Given the description of an element on the screen output the (x, y) to click on. 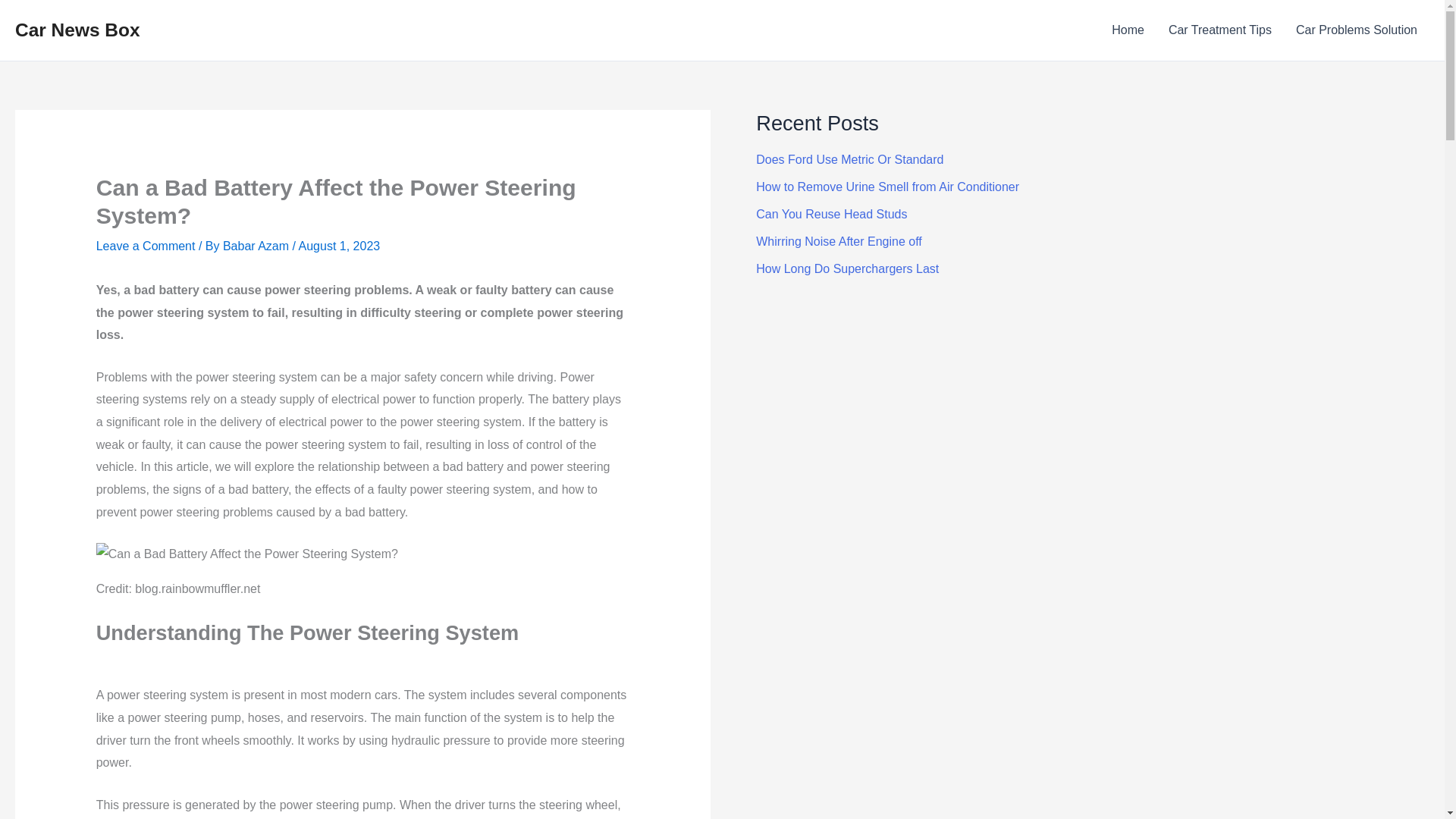
How Long Do Superchargers Last (847, 268)
Car News Box (76, 29)
Leave a Comment (145, 245)
Whirring Noise After Engine off (838, 241)
How to Remove Urine Smell from Air Conditioner (887, 186)
Car Treatment Tips (1220, 30)
Does Ford Use Metric Or Standard (849, 159)
Car Problems Solution (1356, 30)
Babar Azam (257, 245)
View all posts by Babar Azam (257, 245)
